Given the description of an element on the screen output the (x, y) to click on. 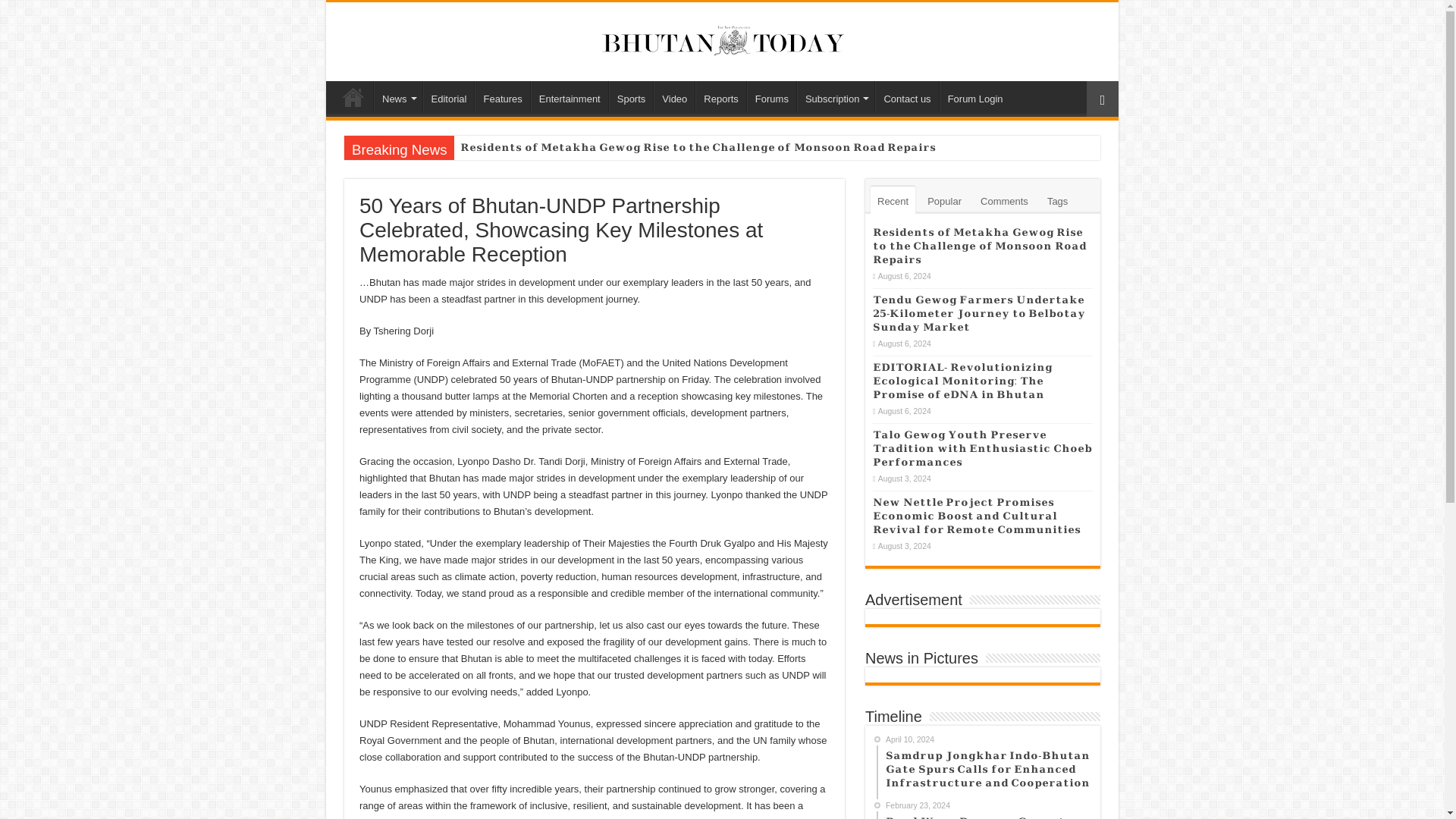
News (398, 97)
Video (673, 97)
Subscription (835, 97)
Editorial (448, 97)
Features (501, 97)
Sports (630, 97)
Contact us (906, 97)
BHUTAN TODAY (721, 38)
Forum Login (974, 97)
Reports (720, 97)
